Given the description of an element on the screen output the (x, y) to click on. 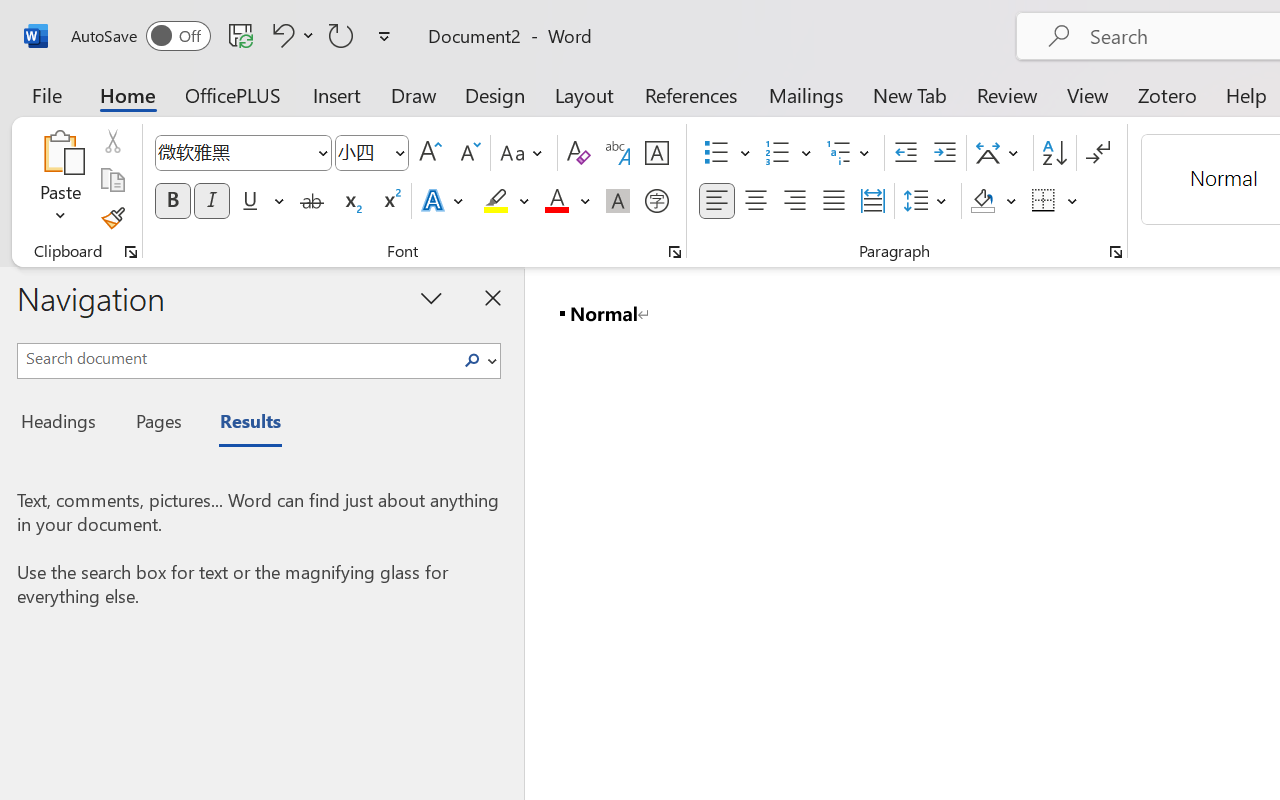
File Tab (46, 94)
Underline (250, 201)
Paste (60, 151)
Pages (156, 424)
Search (478, 360)
Enclose Characters... (656, 201)
Show/Hide Editing Marks (1098, 153)
Repeat Doc Close (341, 35)
Font (234, 152)
Headings (64, 424)
AutoSave (140, 35)
Grow Font (430, 153)
Quick Access Toolbar (233, 36)
Class: NetUIImage (471, 360)
